Given the description of an element on the screen output the (x, y) to click on. 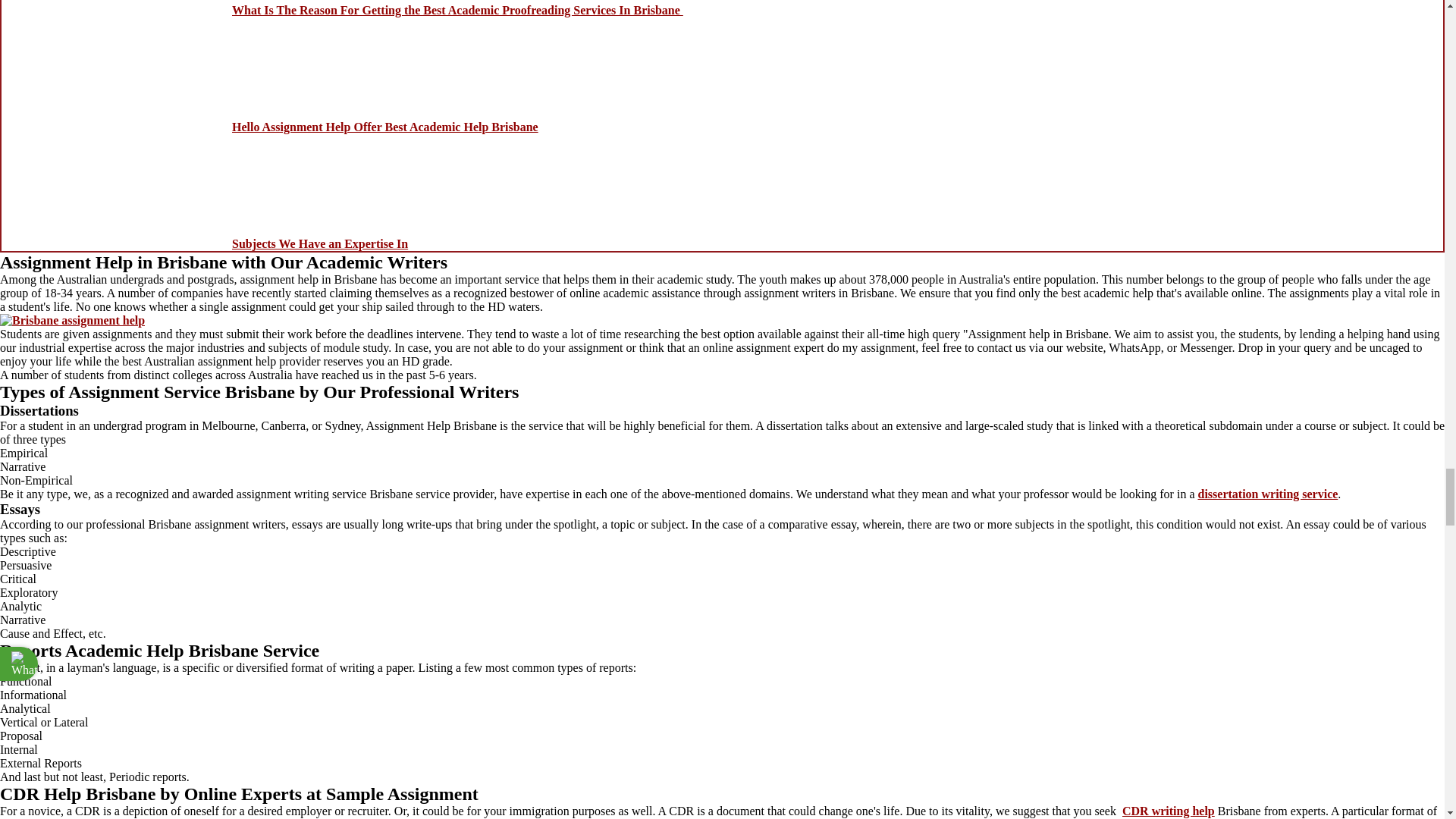
Hello Assignment Help Offer Best Academic Help Brisbane (384, 126)
Subjects We Have an Expertise In (319, 243)
Hello Assignment Help Offer Best Academic Help Brisbane (384, 126)
Subjects We Have an Expertise In (319, 243)
